Given the description of an element on the screen output the (x, y) to click on. 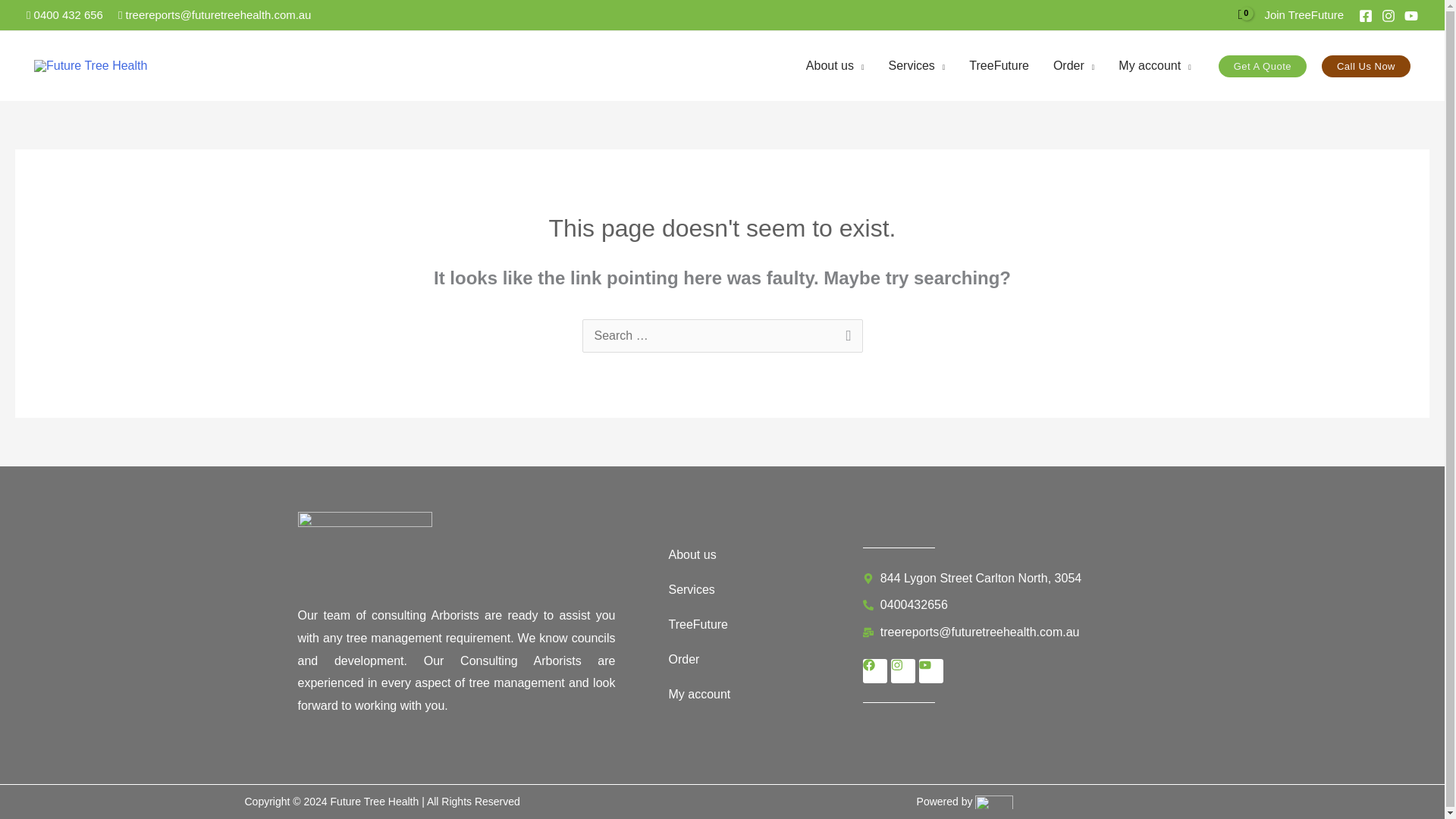
My account (1154, 65)
Order (1073, 65)
Get A Quote (1262, 65)
About us (834, 65)
Join TreeFuture (1303, 14)
Call Us Now (1366, 65)
Services (916, 65)
TreeFuture (998, 65)
 0400 432 656 (64, 14)
